Given the description of an element on the screen output the (x, y) to click on. 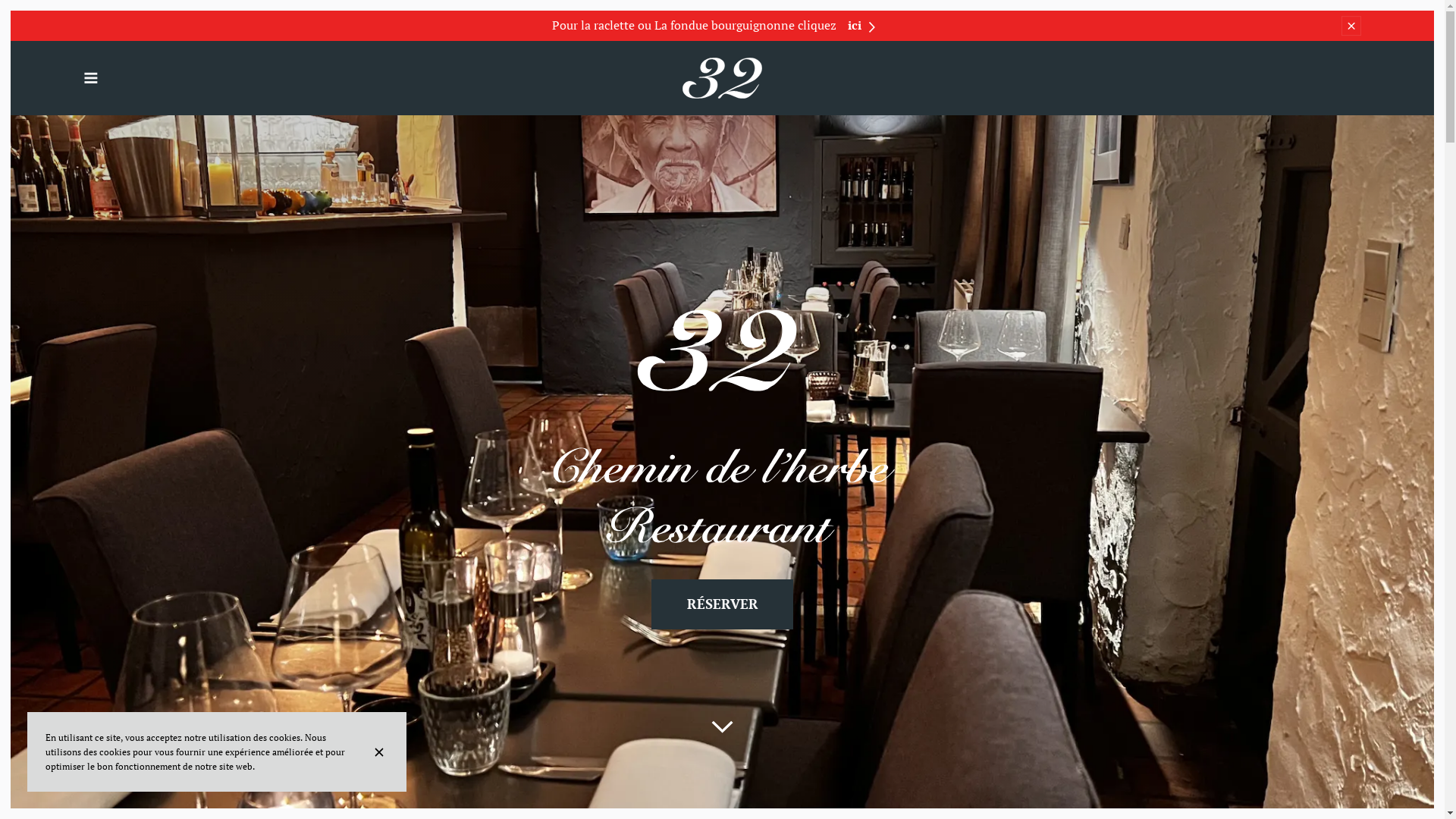
Logo de Chemin de l'herbe Element type: hover (721, 77)
Logo de Chemin de l'herbe Element type: hover (721, 427)
CHEMIN DE L'HERBE Element type: text (721, 77)
Pour la raclette ou La fondue bourguignonne cliquez
ici Element type: text (712, 25)
